Given the description of an element on the screen output the (x, y) to click on. 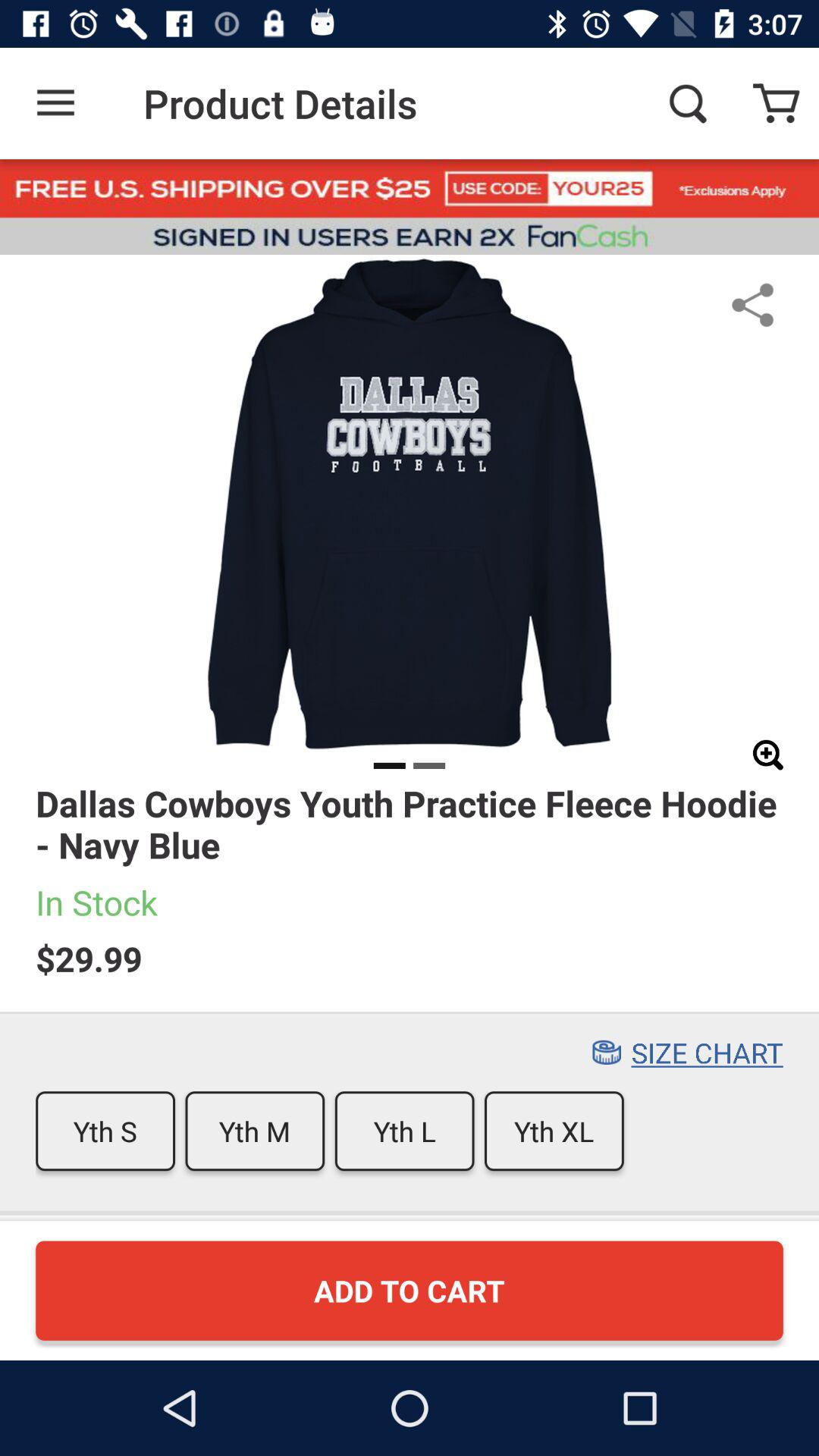
turn off item next to the product details icon (55, 103)
